Given the description of an element on the screen output the (x, y) to click on. 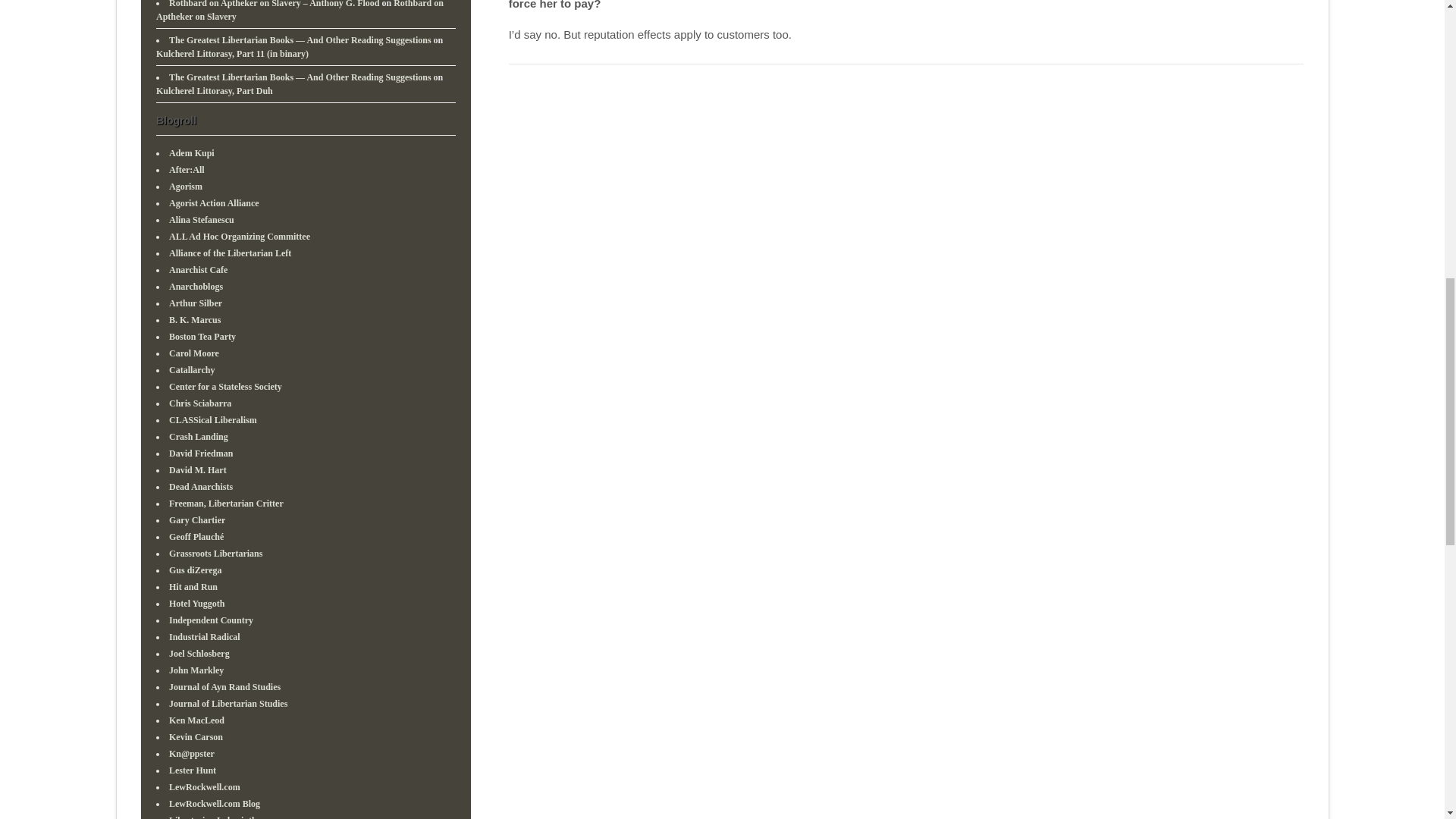
ALL Ad Hoc Organizing Committee (239, 235)
Rothbard on Aptheker on Slavery (299, 11)
Adem Kupi (191, 152)
Agorist Action Alliance (213, 202)
After:All (186, 168)
Agorism (185, 185)
Kulcherel Littorasy, Part Duh (214, 90)
Alina Stefanescu (201, 218)
